Given the description of an element on the screen output the (x, y) to click on. 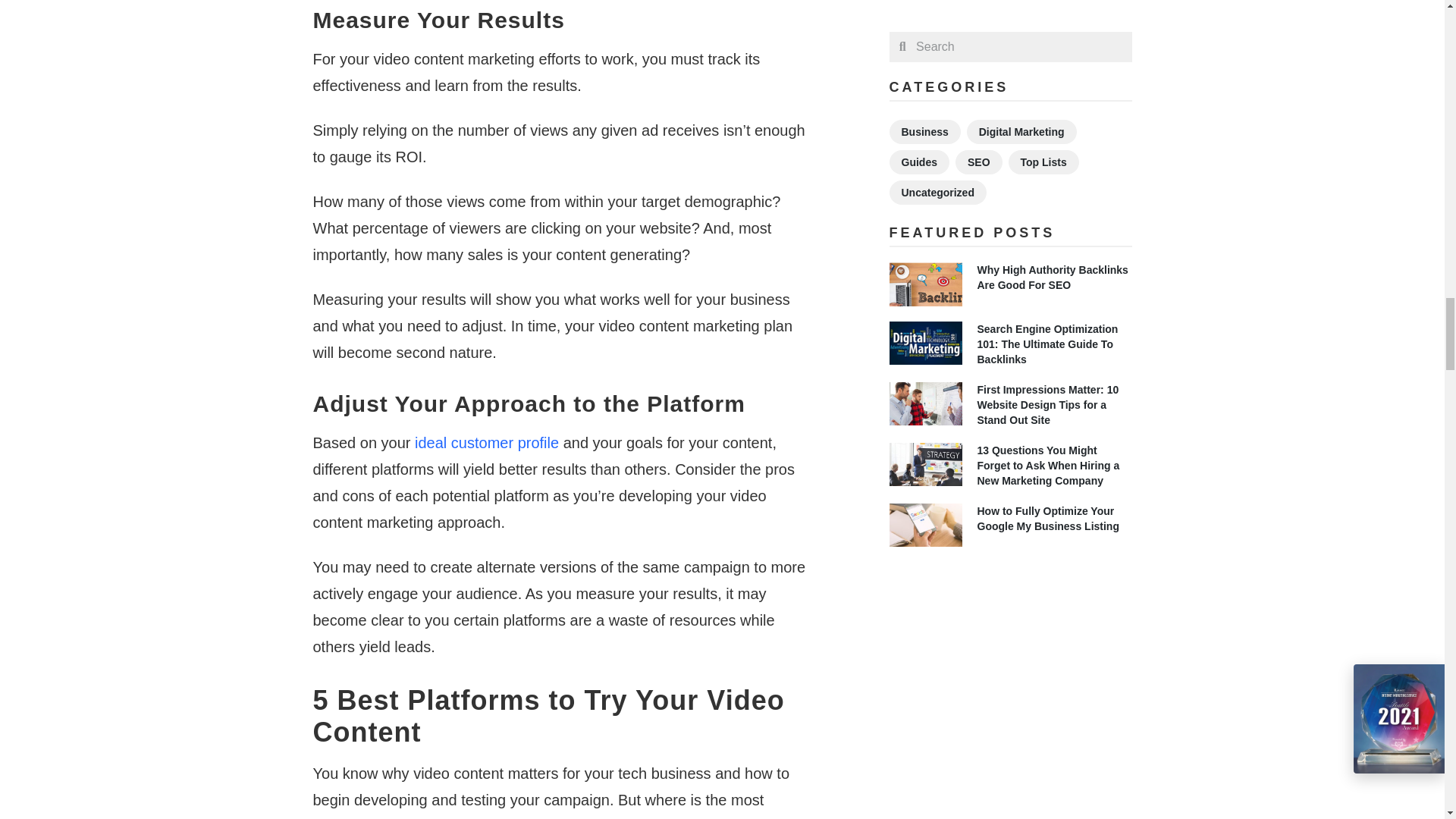
ideal customer profile (486, 442)
